Given the description of an element on the screen output the (x, y) to click on. 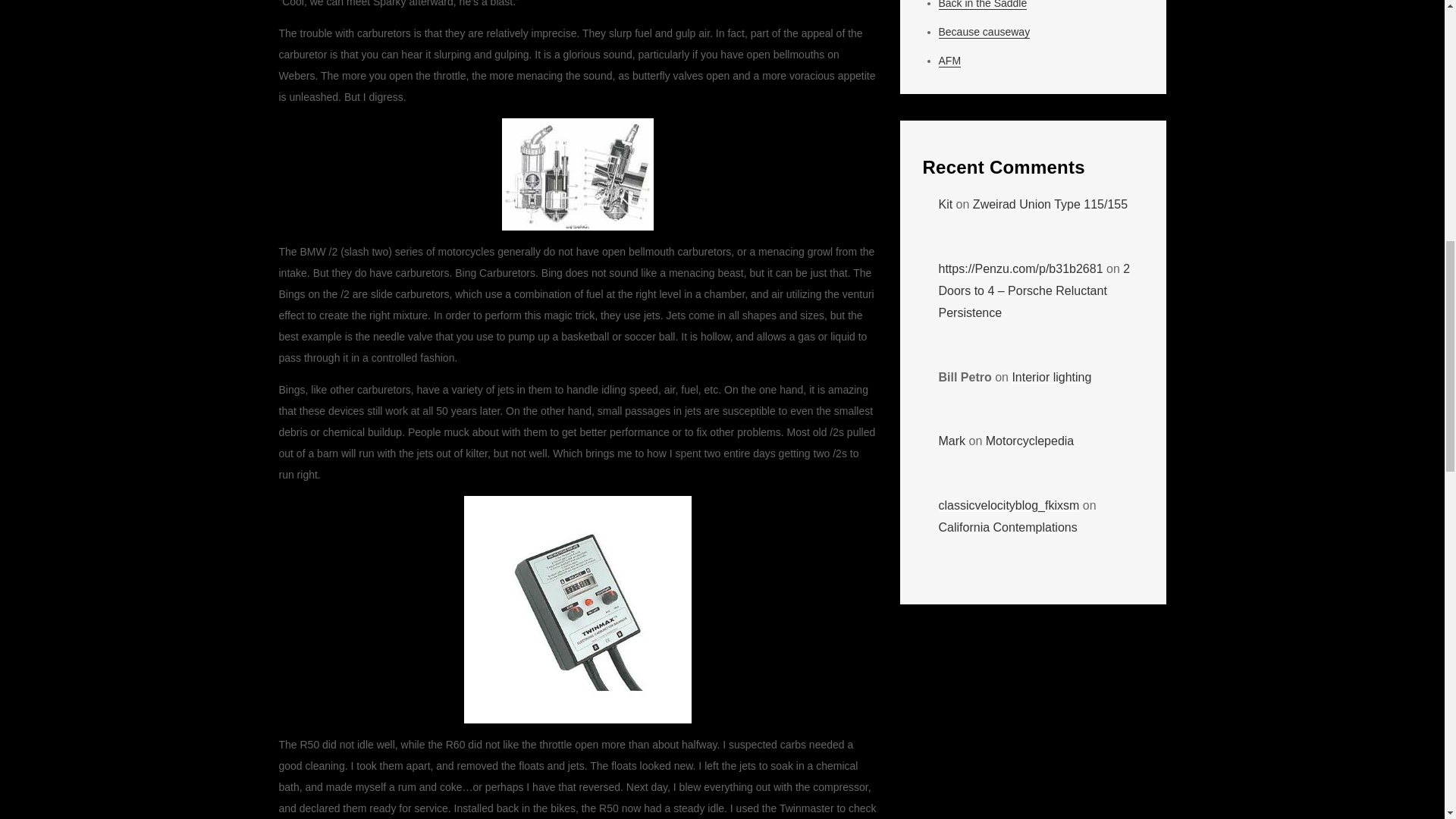
Motorcyclepedia (1029, 440)
Mark (952, 440)
Because causeway (984, 31)
Kit (946, 204)
AFM (949, 60)
Back in the Saddle (983, 4)
California Contemplations (1008, 526)
Interior lighting (1050, 377)
